Given the description of an element on the screen output the (x, y) to click on. 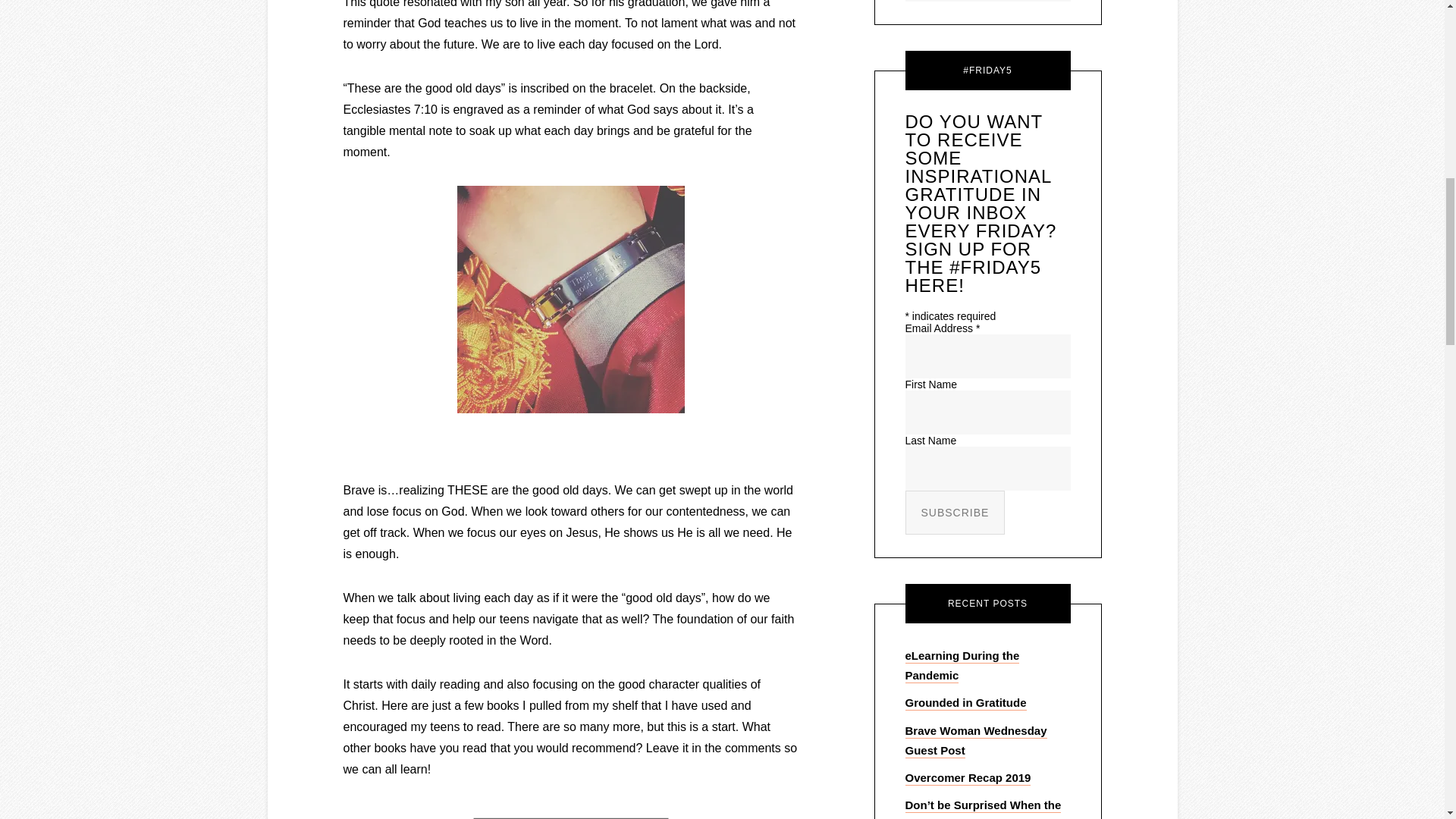
Subscribe (955, 512)
